Given the description of an element on the screen output the (x, y) to click on. 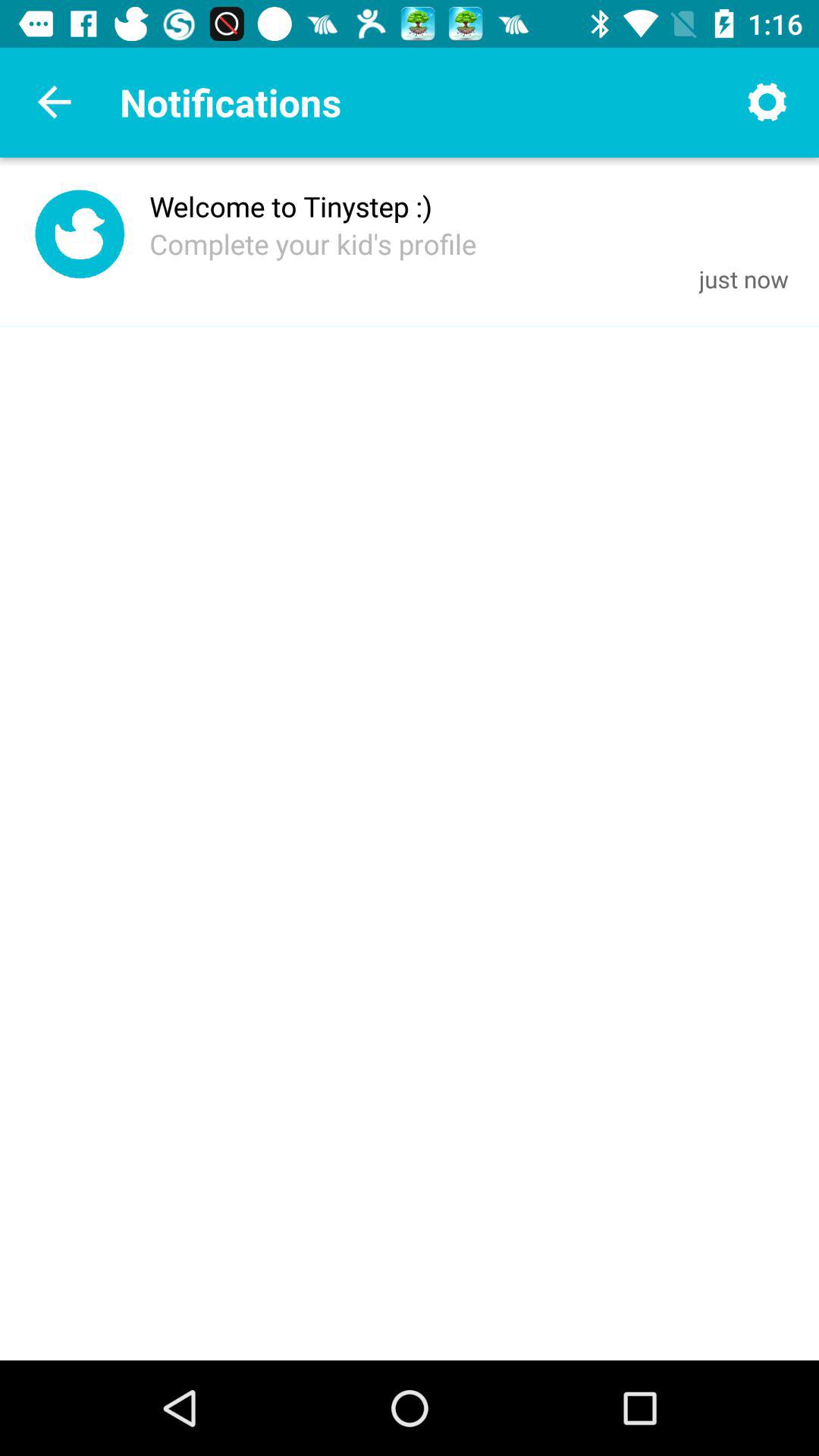
select item to the left of the just now icon (312, 243)
